Given the description of an element on the screen output the (x, y) to click on. 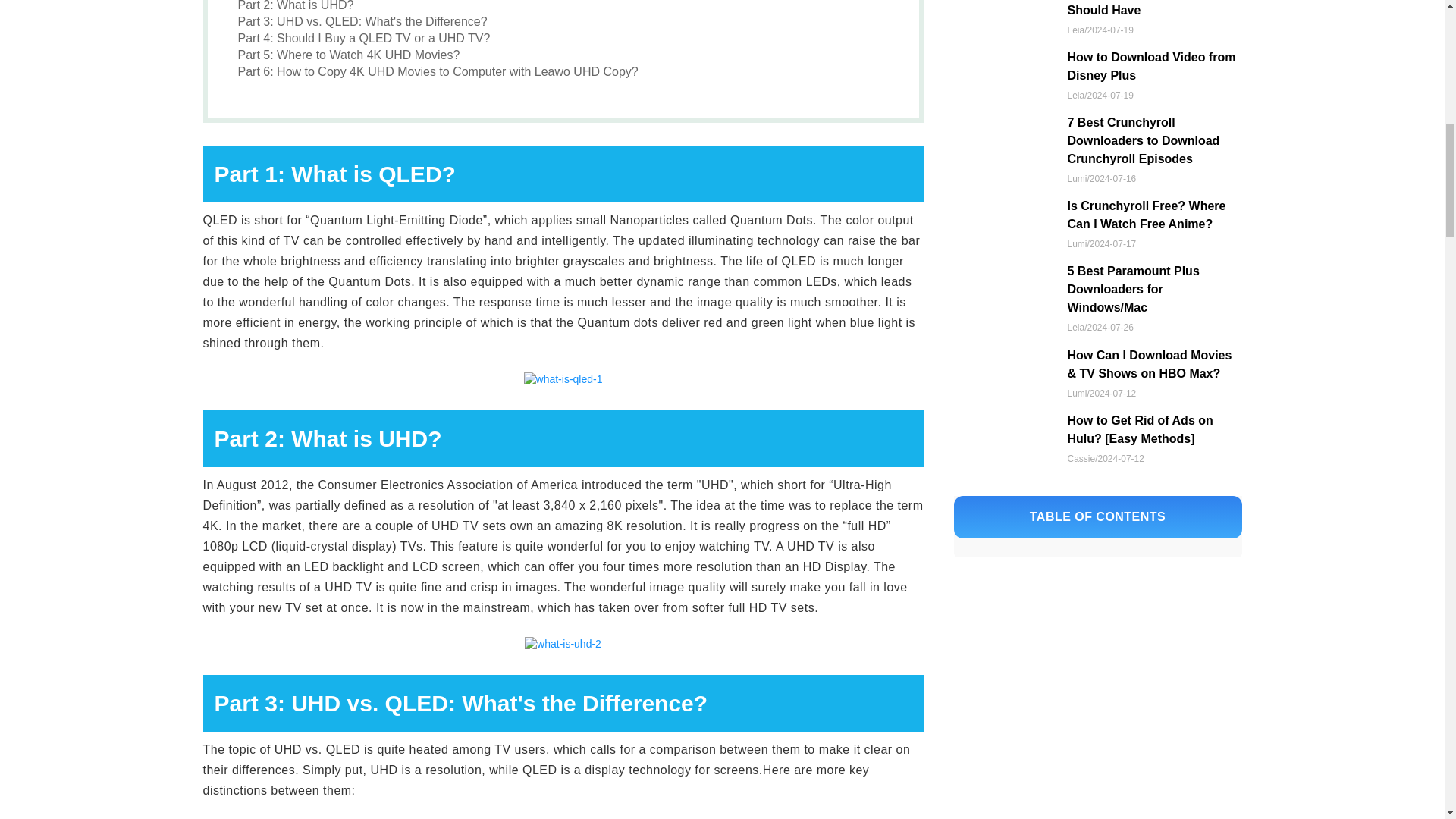
what-is-qled-1 (563, 379)
Part 5: Where to Watch 4K UHD Movies? (349, 54)
what-is-uhd-2 (562, 644)
Part 2: What is UHD? (295, 5)
Part 3: UHD vs. QLED: What's the Difference? (362, 21)
Part 4: Should I Buy a QLED TV or a UHD TV? (364, 38)
